Given the description of an element on the screen output the (x, y) to click on. 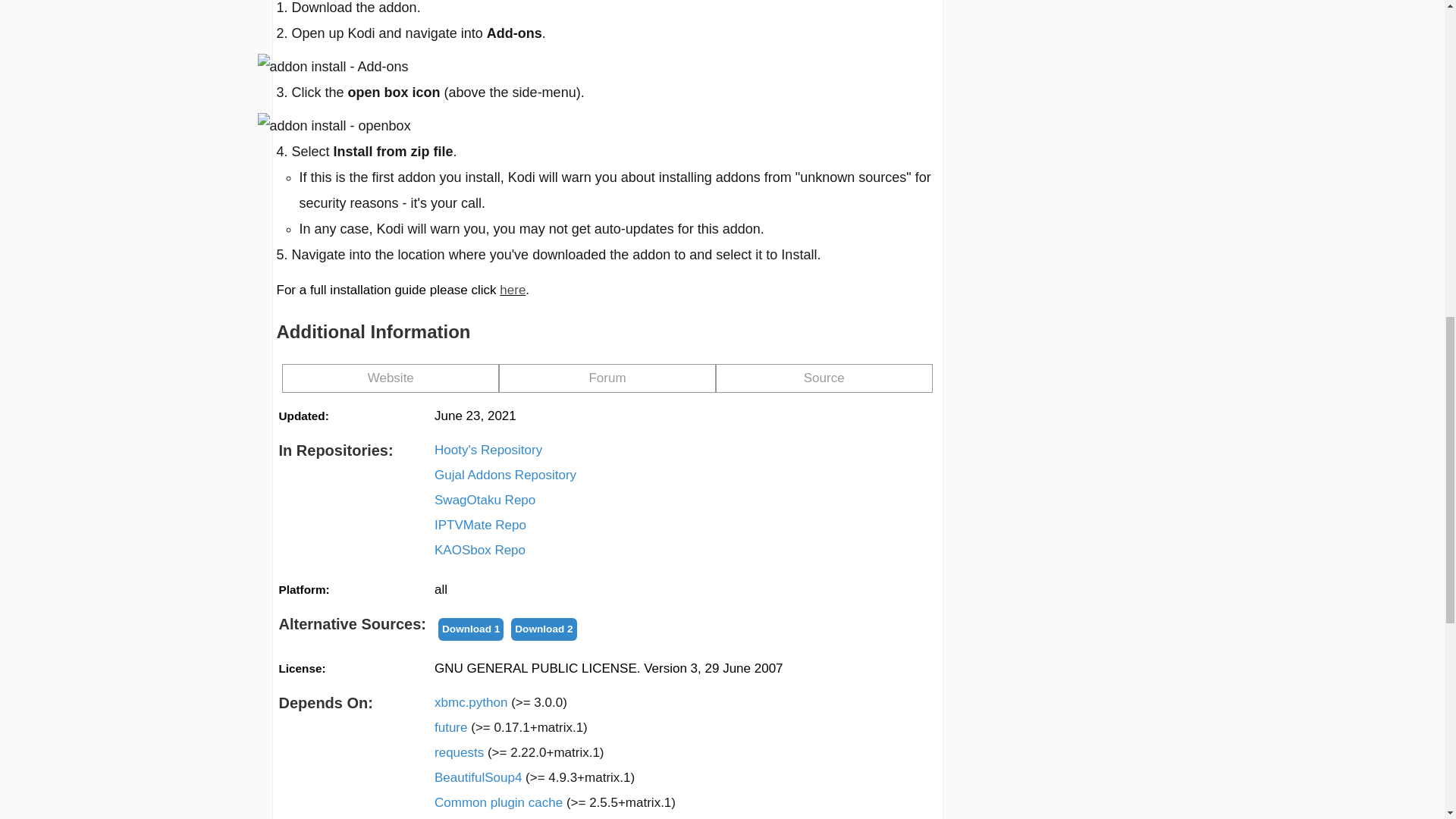
SwagOtaku Repo (484, 500)
Gujal Addons Repository (504, 475)
KAOSbox Repo (479, 550)
Download 2 (543, 629)
IPTVMate Repo (479, 525)
Download 1 (470, 629)
here (512, 289)
Hooty's Repository (487, 450)
